Given the description of an element on the screen output the (x, y) to click on. 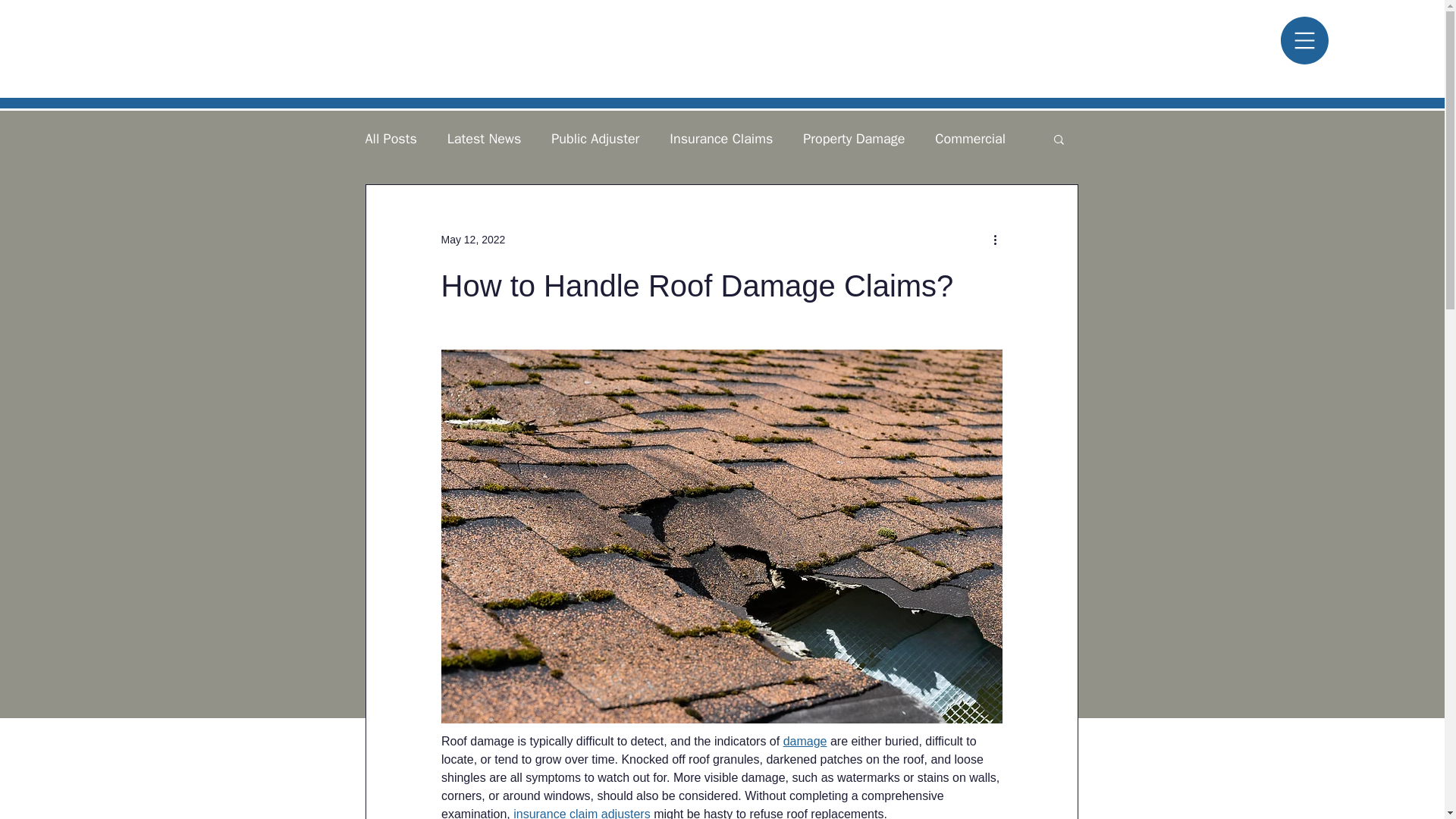
Latest News (483, 138)
All Posts (390, 138)
May 12, 2022 (473, 239)
damage (805, 740)
insurance claim adjusters (581, 813)
Property Damage (853, 138)
Public Adjuster (595, 138)
Insurance Claims (721, 138)
Commercial (970, 138)
